Given the description of an element on the screen output the (x, y) to click on. 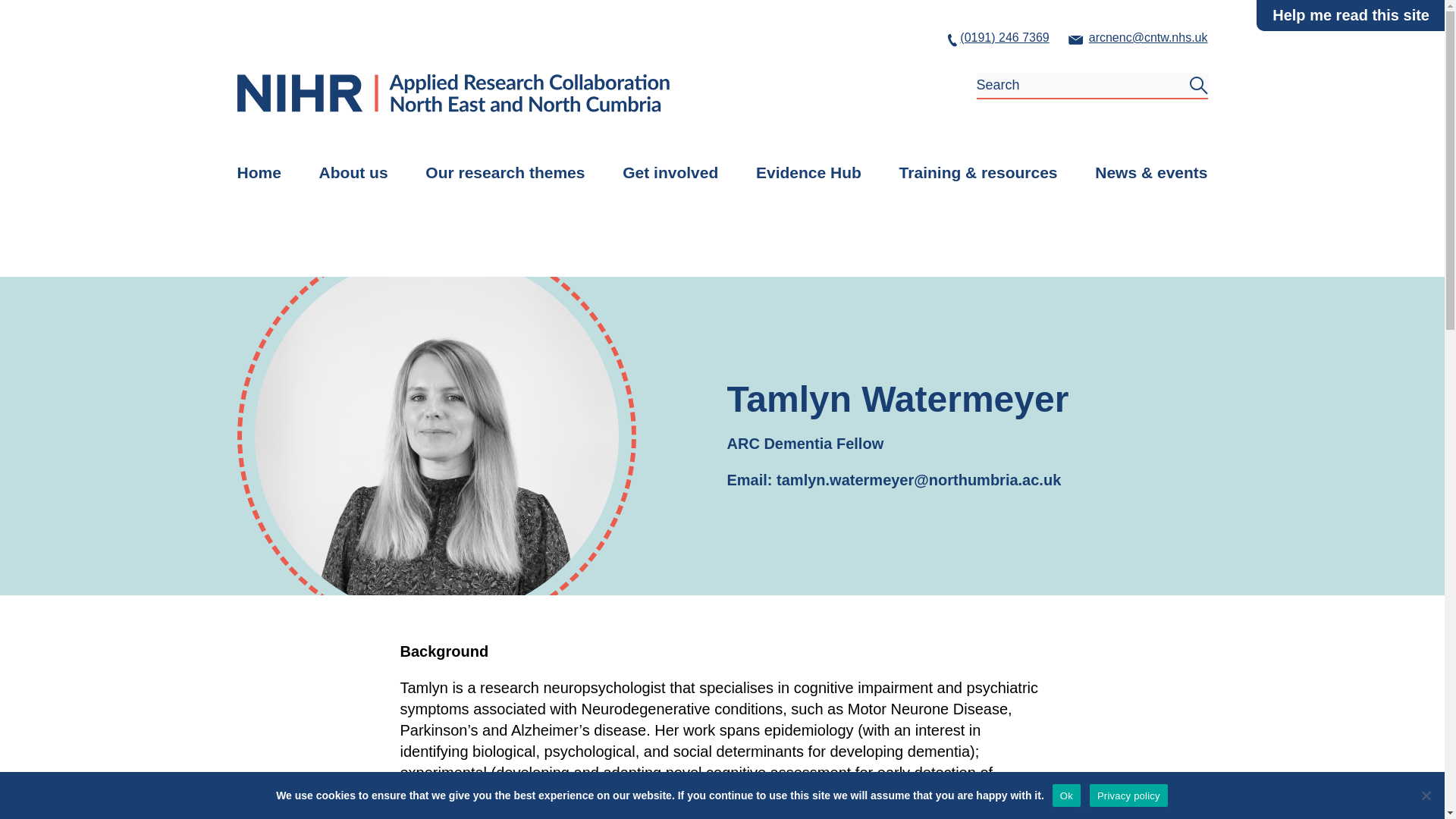
No (1425, 795)
Evidence Hub (808, 171)
Our research themes (505, 171)
About us (353, 171)
Get involved (670, 171)
Home (258, 171)
